Given the description of an element on the screen output the (x, y) to click on. 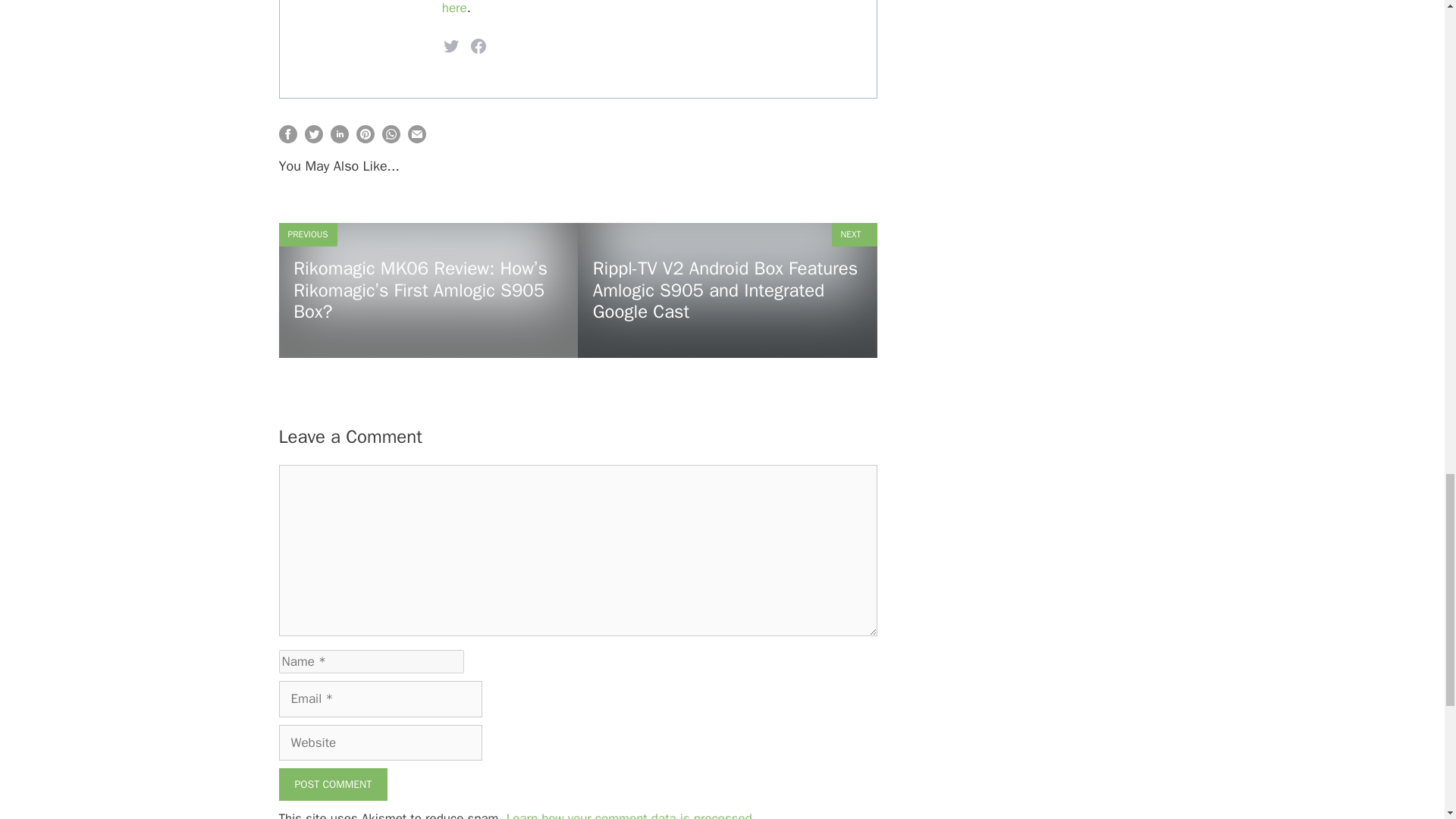
Email this post! (416, 139)
send Michael a message here (635, 7)
Post Comment (333, 784)
Facebook (477, 45)
Twitter (451, 45)
Pin this post! (365, 139)
Share this post! (288, 139)
Share this post! (390, 139)
Share this post! (339, 139)
Tweet this post! (313, 139)
